Given the description of an element on the screen output the (x, y) to click on. 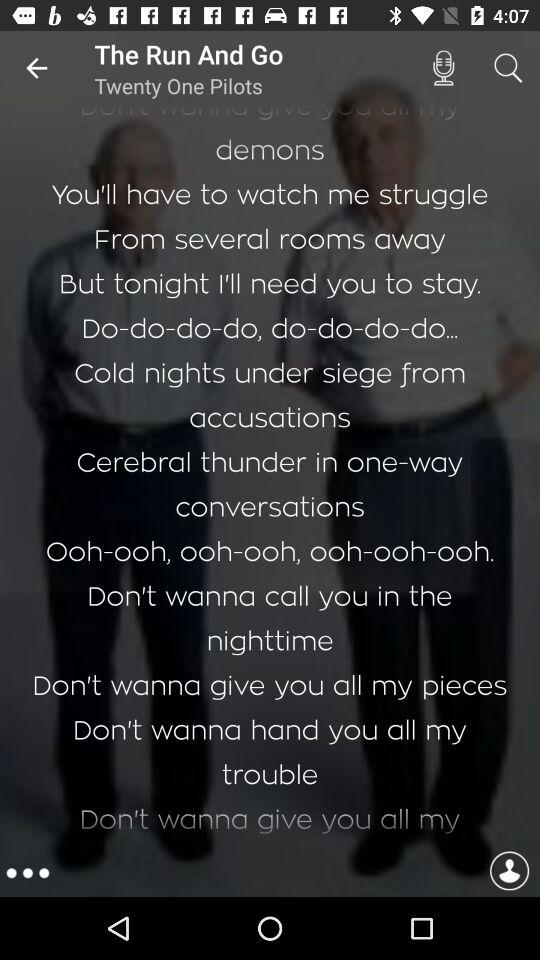
jump to i can t (269, 477)
